Given the description of an element on the screen output the (x, y) to click on. 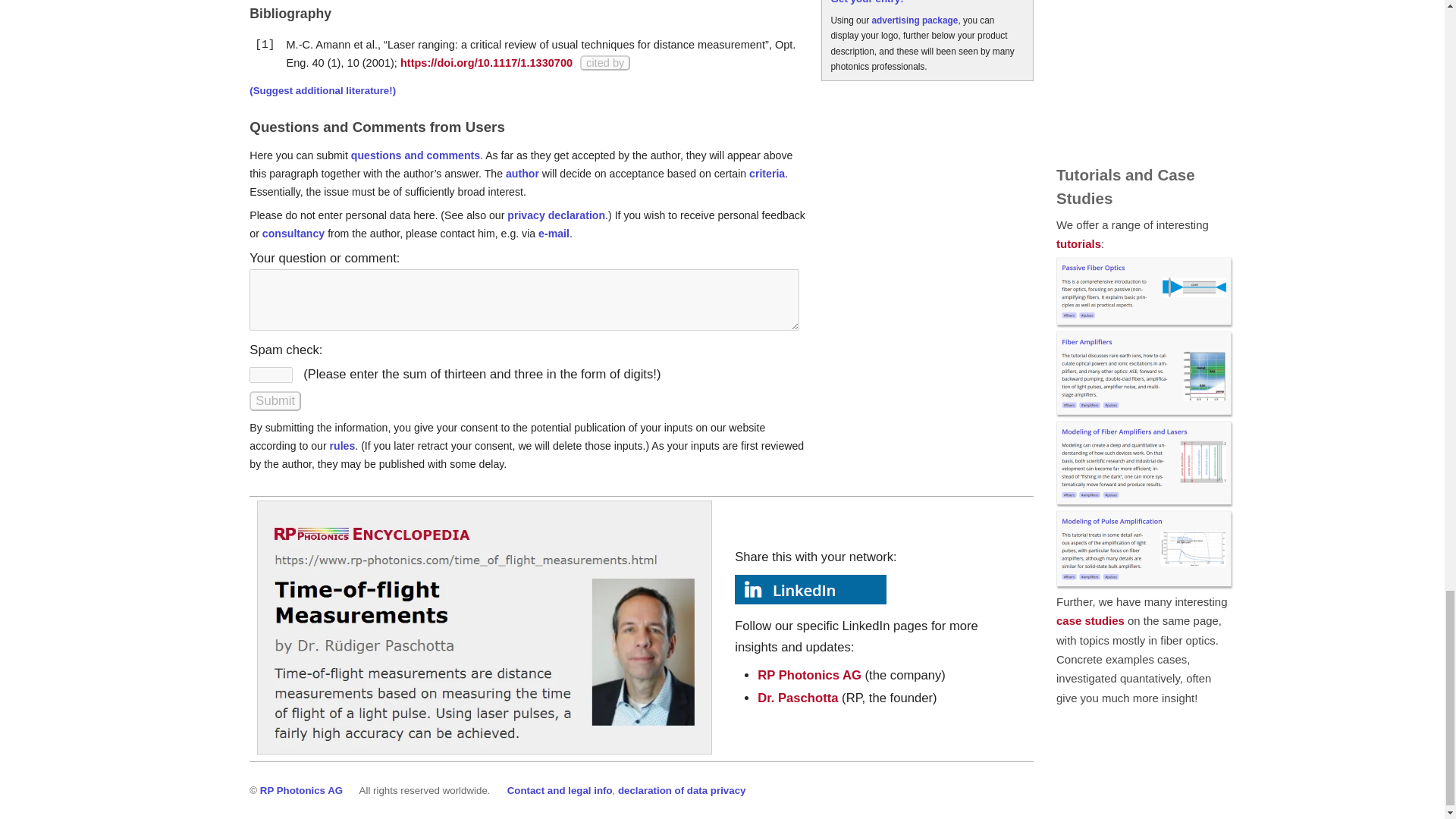
Submit (274, 401)
